Given the description of an element on the screen output the (x, y) to click on. 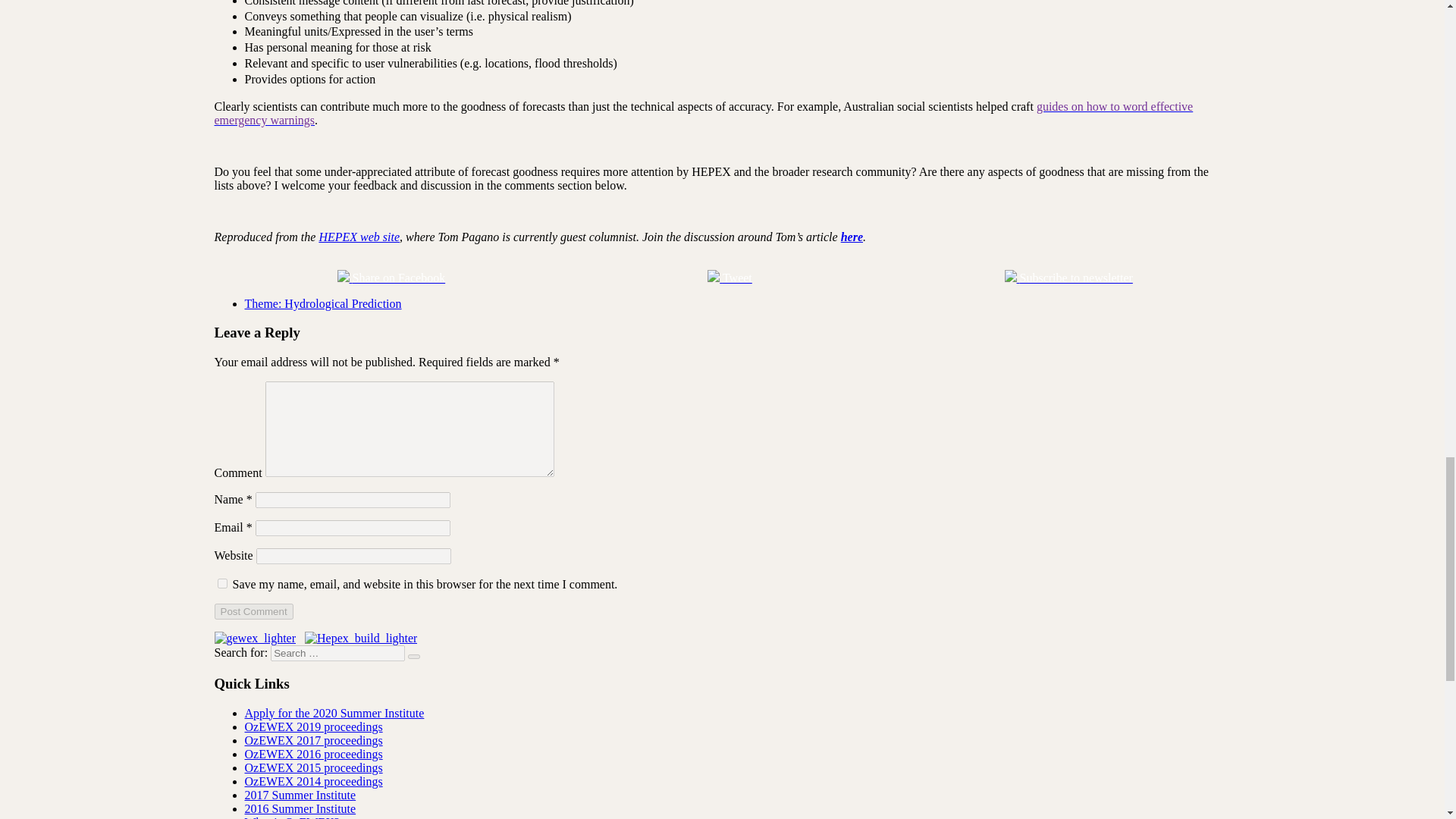
HEPEX web site (358, 236)
Tweet (729, 277)
Subscribe to newsletter (1068, 277)
yes (221, 583)
Theme: Hydrological Prediction (322, 303)
Post Comment (253, 611)
guides on how to word effective emergency warnings (703, 112)
Share on Facebook (390, 277)
here (852, 236)
Post Comment (253, 611)
